Given the description of an element on the screen output the (x, y) to click on. 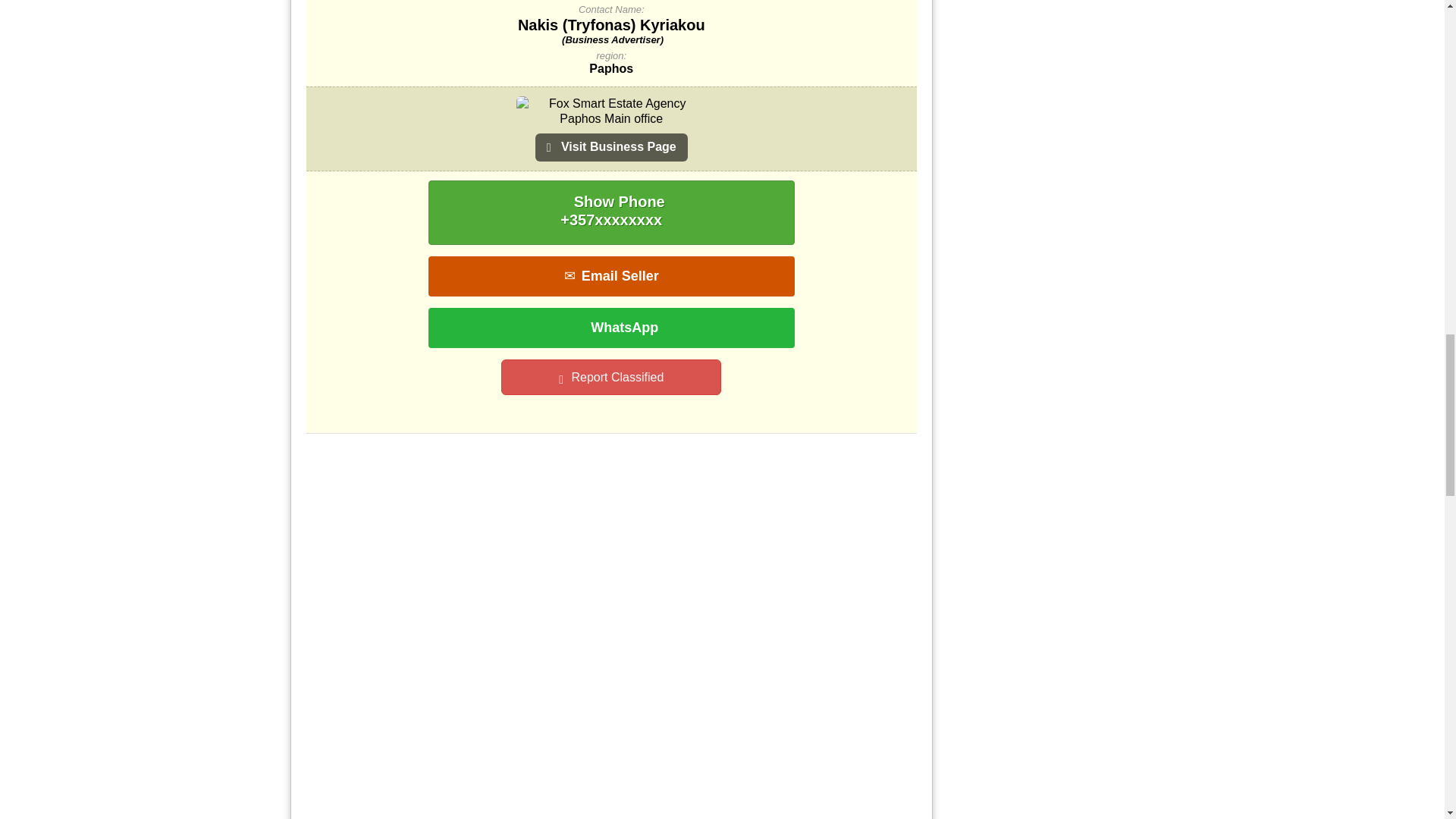
WhatsApp (611, 327)
  Visit Business Page (611, 124)
Report Classified (610, 376)
Email Seller (611, 276)
